Given the description of an element on the screen output the (x, y) to click on. 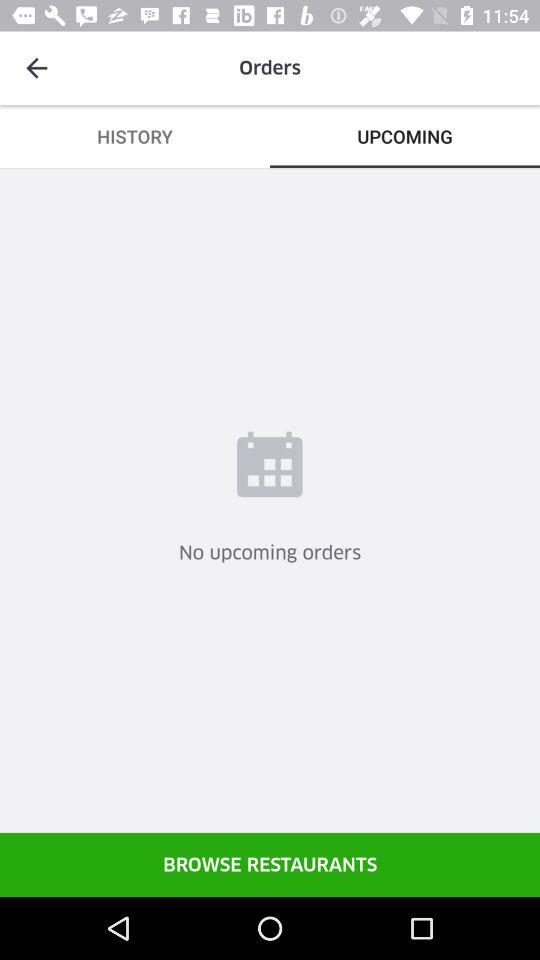
click icon to the left of the orders icon (36, 68)
